Given the description of an element on the screen output the (x, y) to click on. 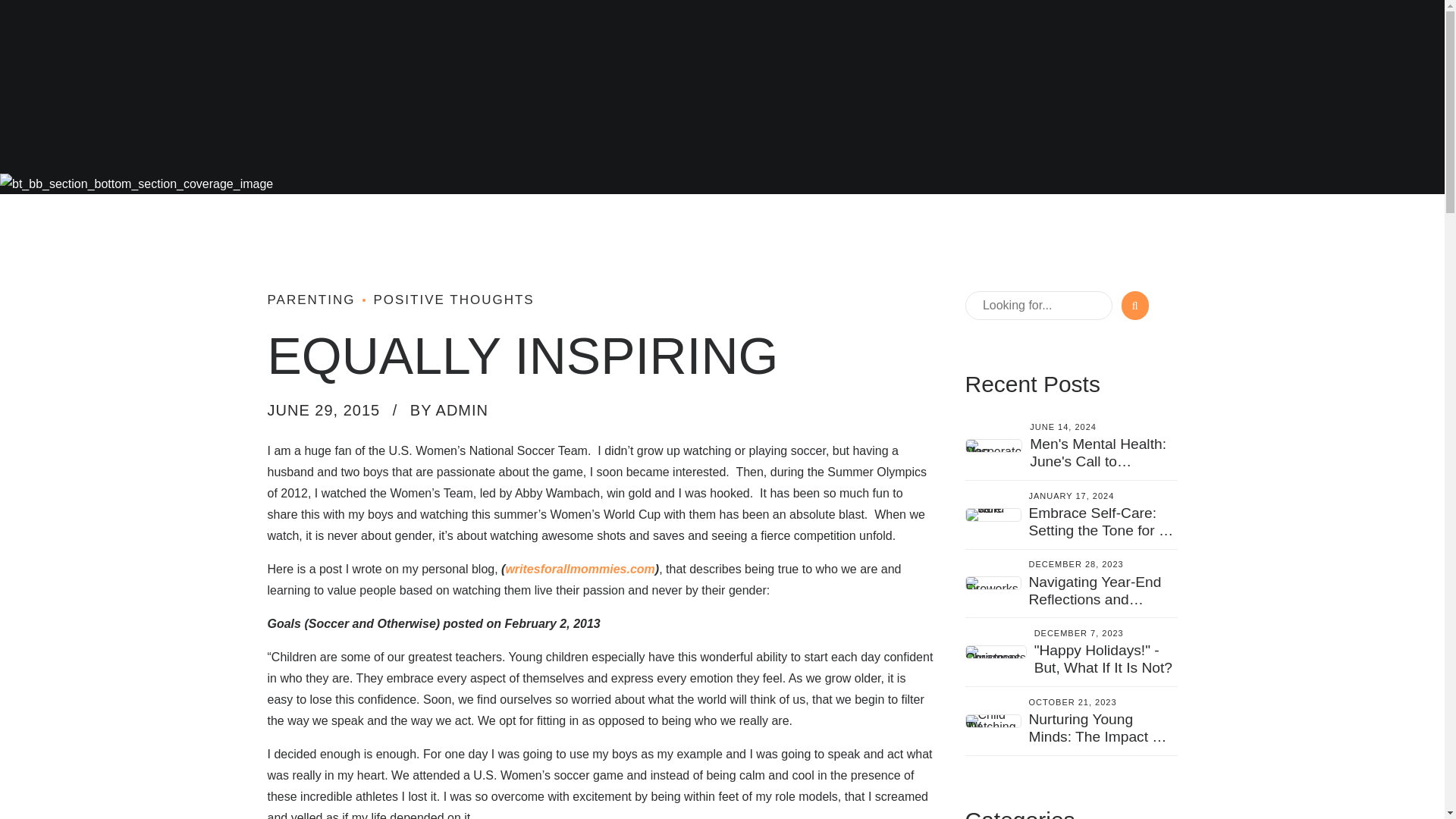
Men's Mental Health: June's Call to Awareness (1097, 460)
POSITIVE THOUGHTS (444, 299)
Nurturing Young Minds: The Impact Of War on Children (1097, 736)
"Happy Holidays!" - But, What If It Is Not? (1102, 658)
PARENTING (310, 299)
writesforallmommies.com (579, 568)
BY ADMIN (448, 410)
